Given the description of an element on the screen output the (x, y) to click on. 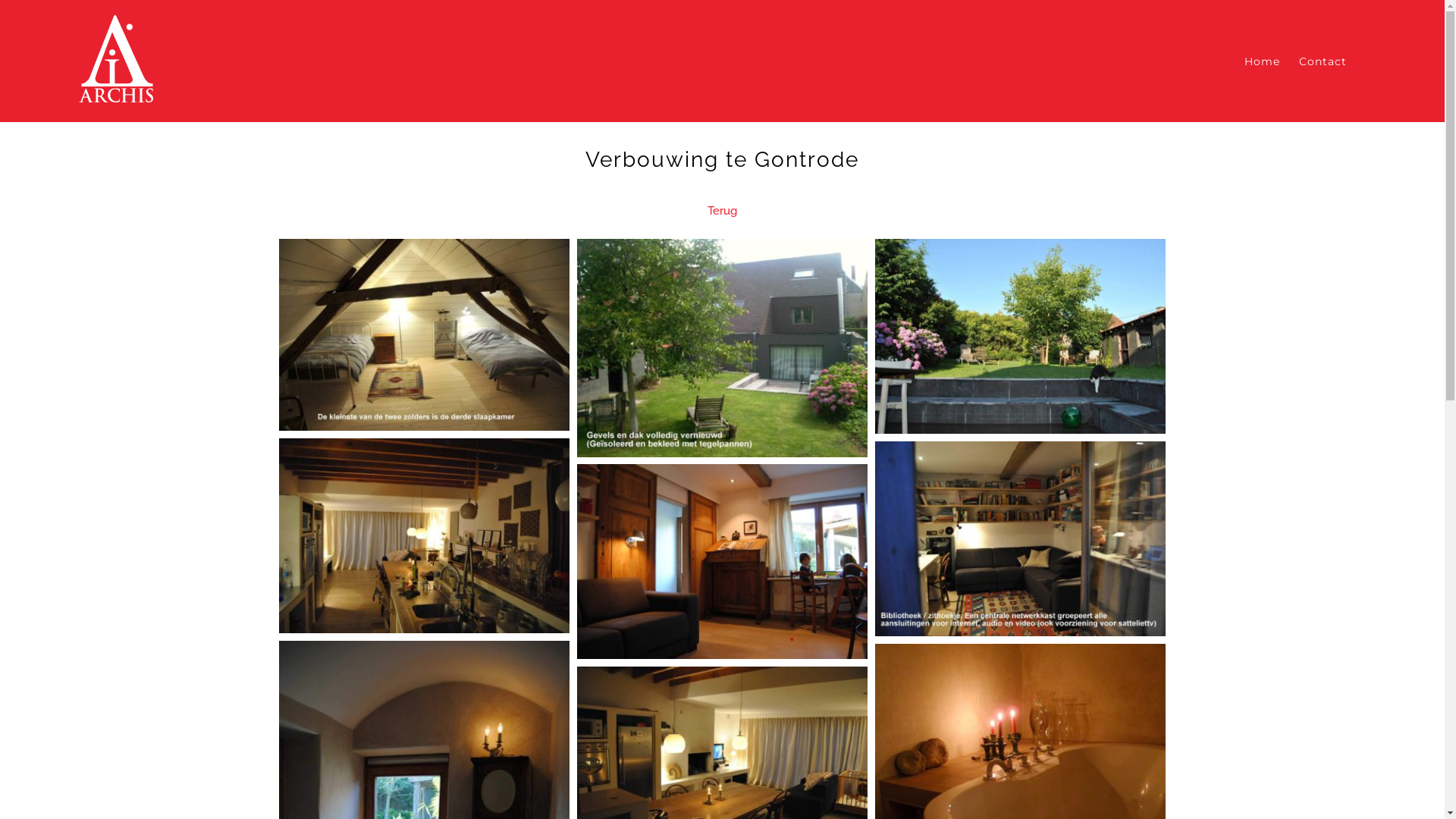
Terug Element type: text (722, 210)
Grondige verbouwing te Gontrode Element type: hover (1020, 335)
Grondige verbouwing te Gontrode Element type: hover (721, 561)
Grondige verbouwing te Gontrode Element type: hover (1020, 538)
Grondige verbouwing te Gontrode Element type: hover (424, 535)
Grondige verbouwing te Gontrode Element type: hover (424, 334)
Grondige verbouwing te Gontrode Element type: hover (721, 347)
Home Element type: text (1262, 61)
Contact Element type: text (1322, 61)
